Given the description of an element on the screen output the (x, y) to click on. 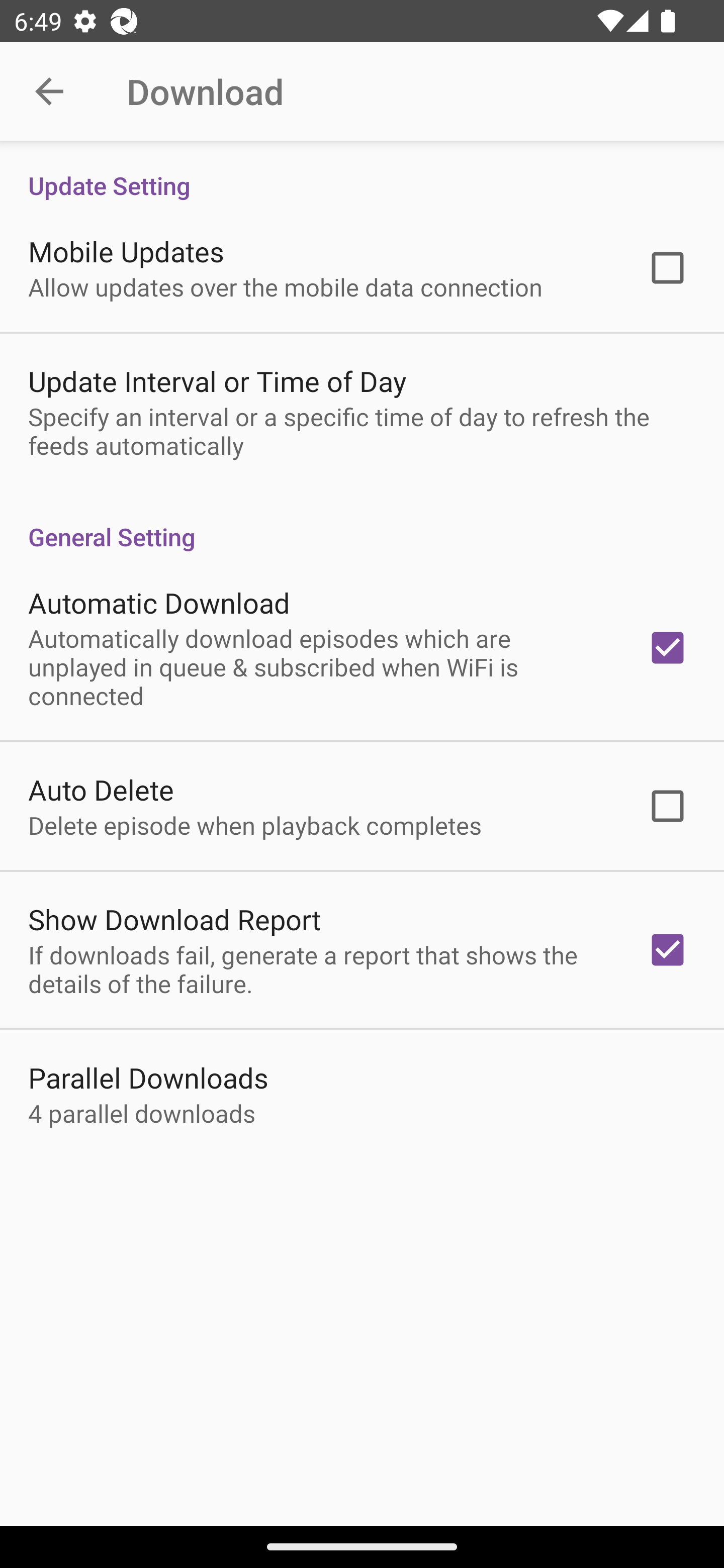
Auto Delete Delete episode when playback completes (362, 805)
Parallel Downloads 4 parallel downloads (362, 1093)
